Given the description of an element on the screen output the (x, y) to click on. 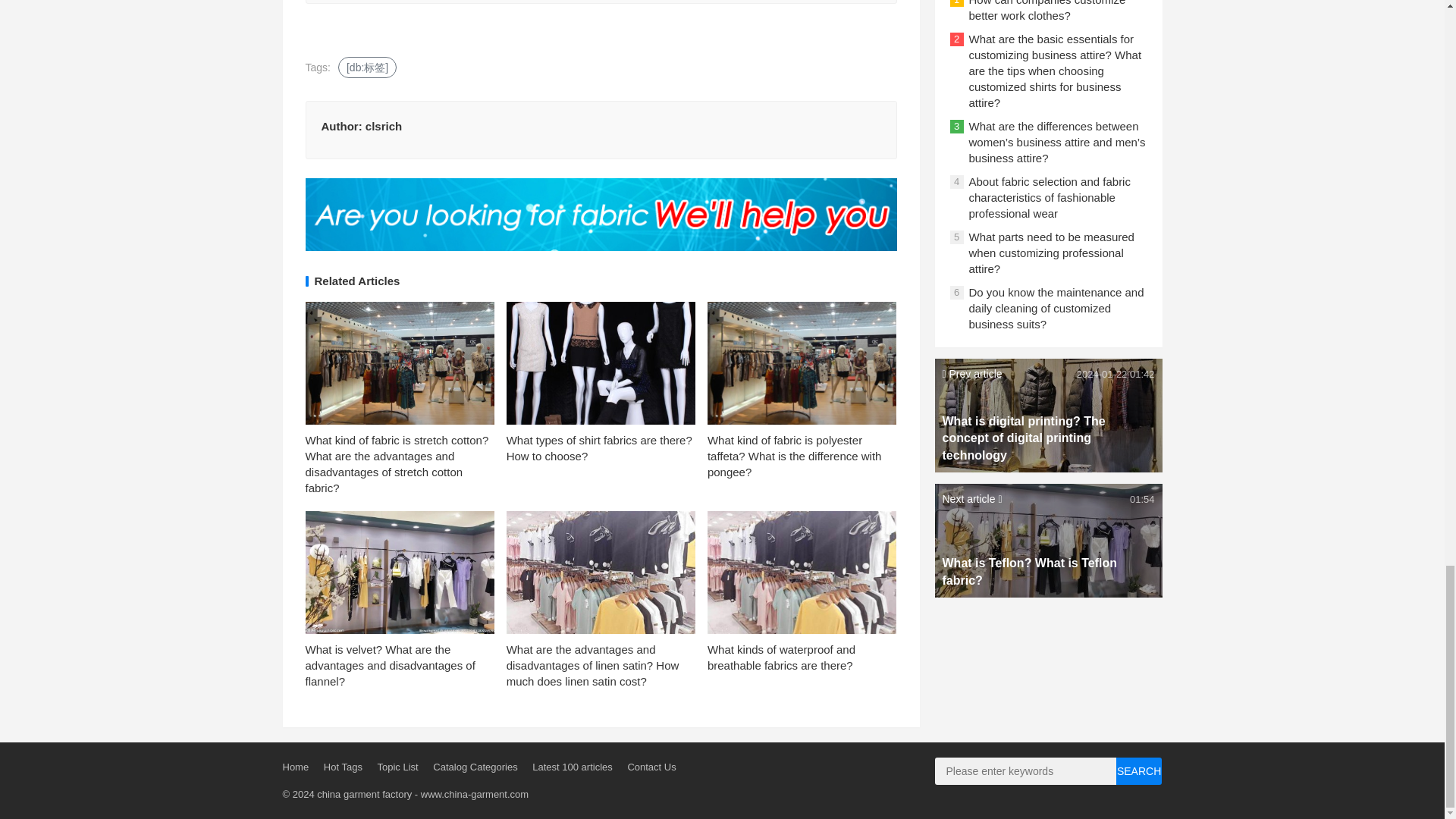
clsrich (383, 125)
What kinds of waterproof and breathable fabrics are there? (781, 656)
What types of shirt fabrics are there? How to choose? (599, 448)
